Given the description of an element on the screen output the (x, y) to click on. 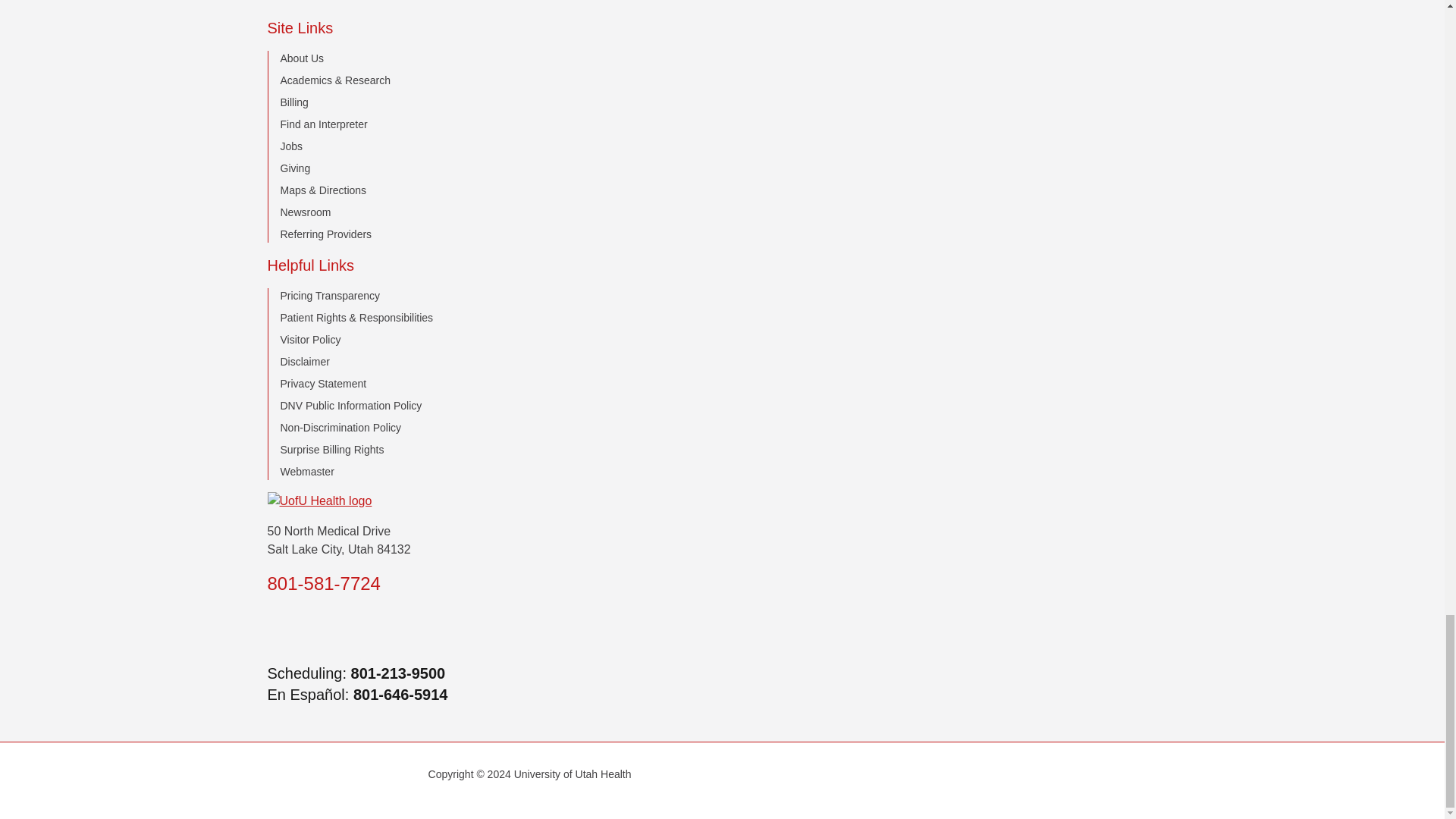
About Us (302, 58)
Find an Interpreter (324, 123)
University of Utah Healthcare (721, 501)
Billing (294, 102)
